Given the description of an element on the screen output the (x, y) to click on. 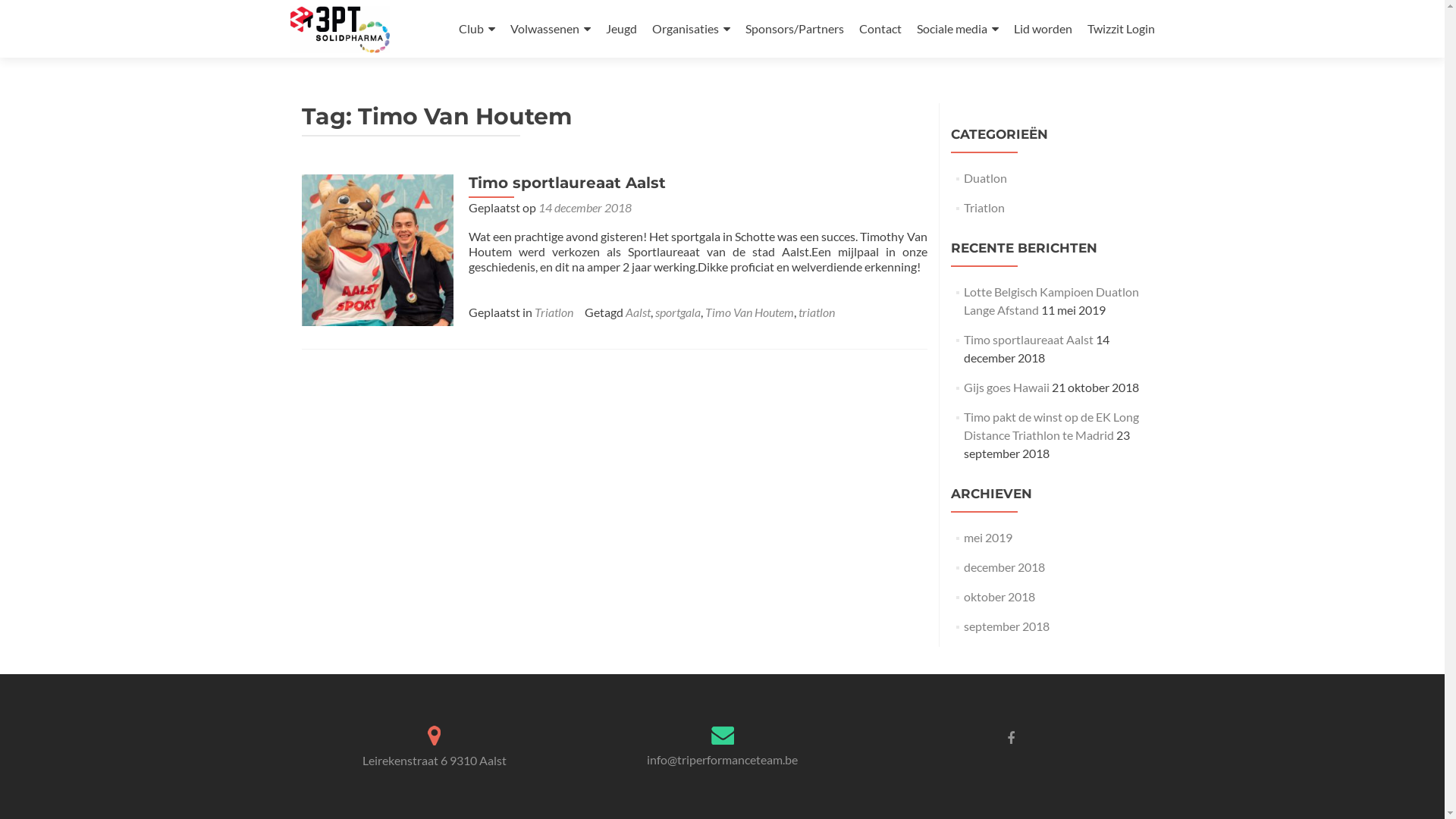
Timo Van Houtem Element type: text (749, 311)
Sponsors/Partners Element type: text (793, 28)
Lotte Belgisch Kampioen Duatlon Lange Afstand Element type: text (1051, 300)
Volwassenen Element type: text (549, 28)
Contact Element type: text (879, 28)
Twizzit Login Element type: text (1120, 28)
Timo sportlaureaat Aalst Element type: text (1028, 339)
Duatlon Element type: text (985, 177)
Sociale media Element type: text (956, 28)
14 december 2018 Element type: text (584, 207)
Timo sportlaureaat Aalst Element type: text (566, 182)
sportgala Element type: text (677, 311)
Gijs goes Hawaii Element type: text (1006, 386)
Triatlon Element type: text (552, 311)
Lid worden Element type: text (1042, 28)
september 2018 Element type: text (1006, 625)
triatlon Element type: text (815, 311)
Facebook link Element type: text (1010, 736)
Aalst Element type: text (636, 311)
Triatlon Element type: text (983, 207)
Jeugd Element type: text (620, 28)
Club Element type: text (476, 28)
mei 2019 Element type: text (987, 537)
Timo sportlaureaat Aalst Element type: hover (377, 248)
oktober 2018 Element type: text (999, 596)
december 2018 Element type: text (1003, 566)
Organisaties Element type: text (691, 28)
